Given the description of an element on the screen output the (x, y) to click on. 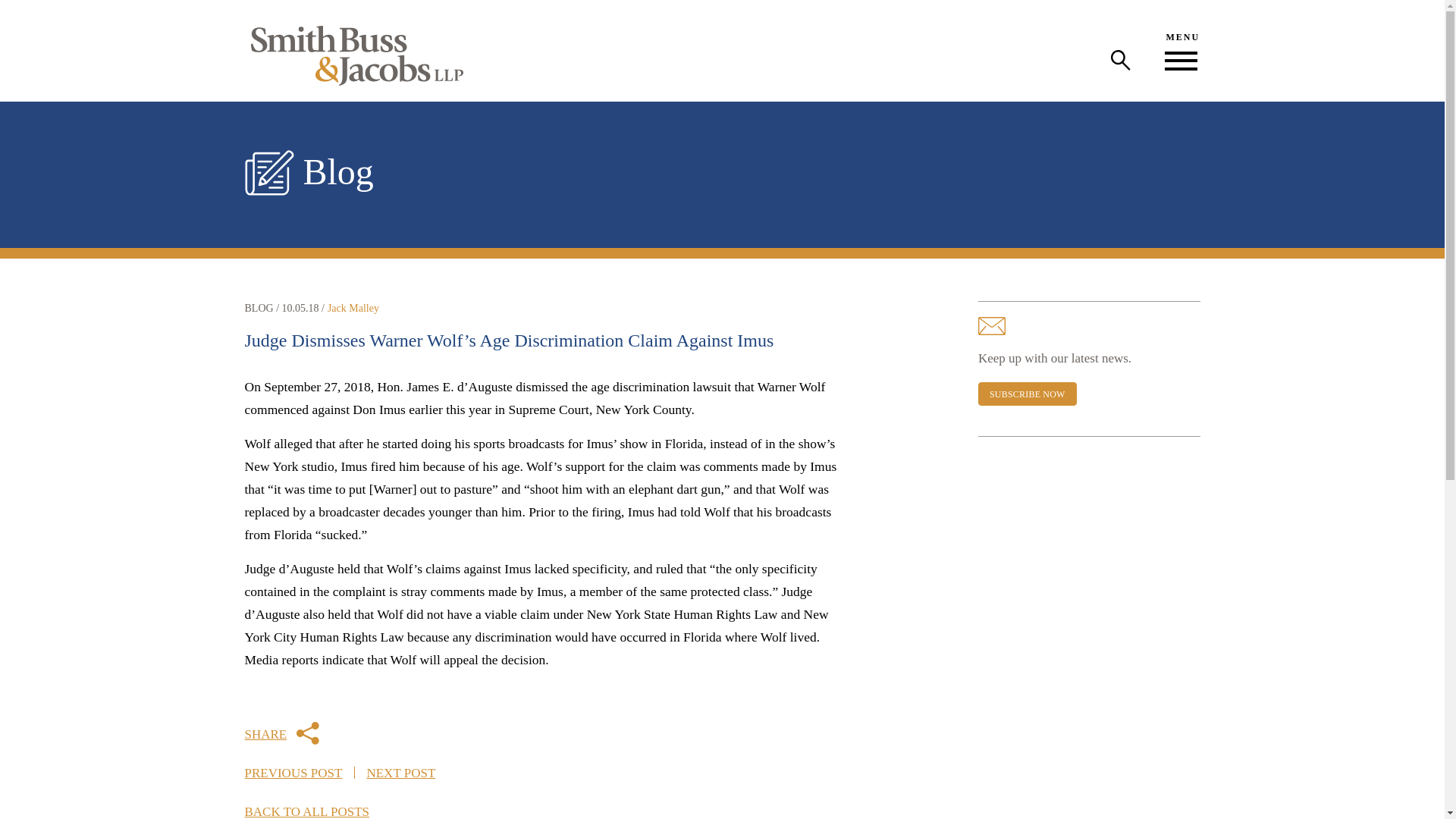
NEXT POST (400, 772)
Jack Malley (352, 307)
SUBSCRIBE NOW (1027, 393)
SHARE (281, 733)
PREVIOUS POST (293, 772)
BLOG (258, 308)
BACK TO ALL POSTS (306, 811)
MENU (1180, 50)
